Given the description of an element on the screen output the (x, y) to click on. 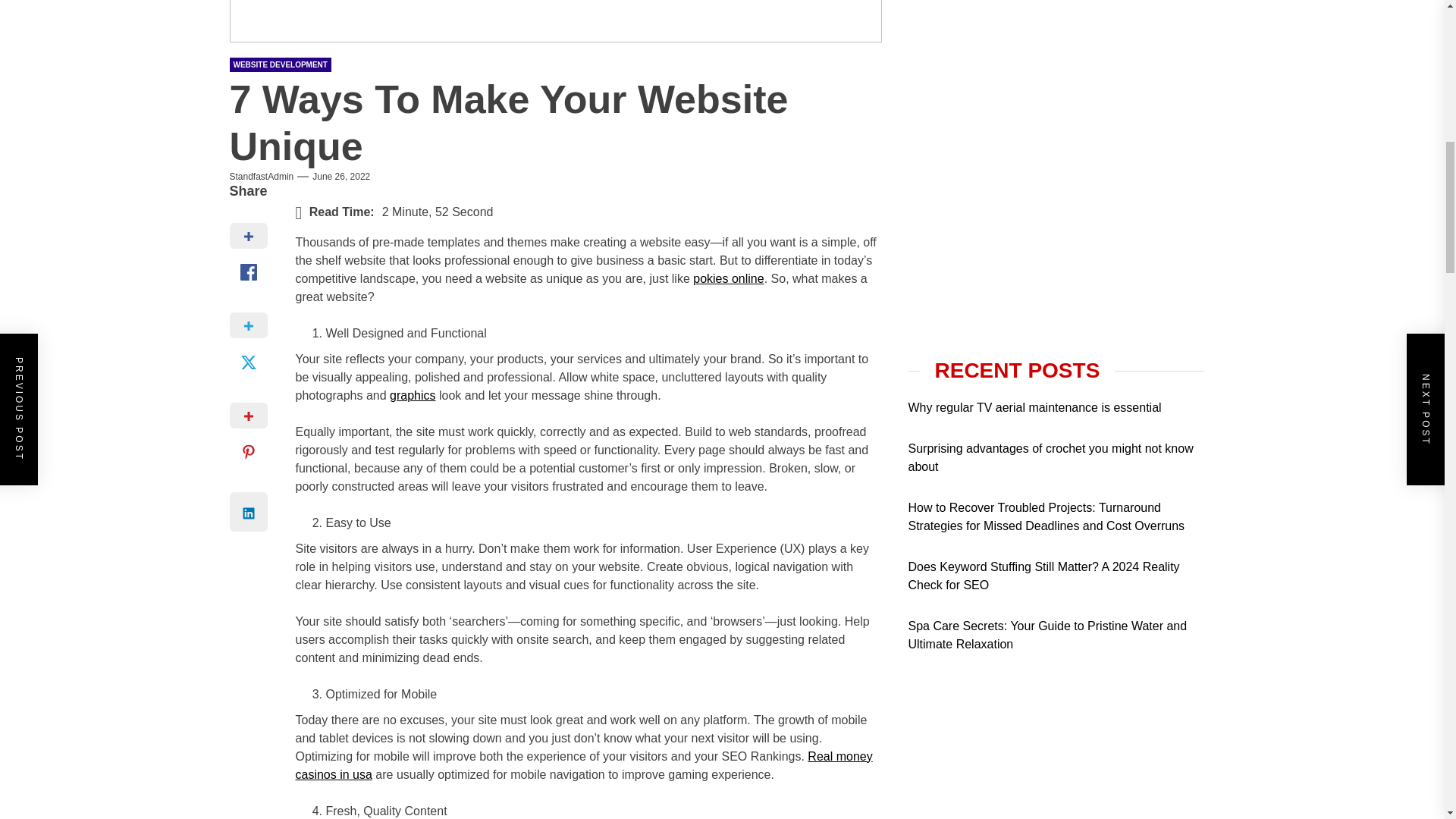
Click Here (1021, 396)
